Given the description of an element on the screen output the (x, y) to click on. 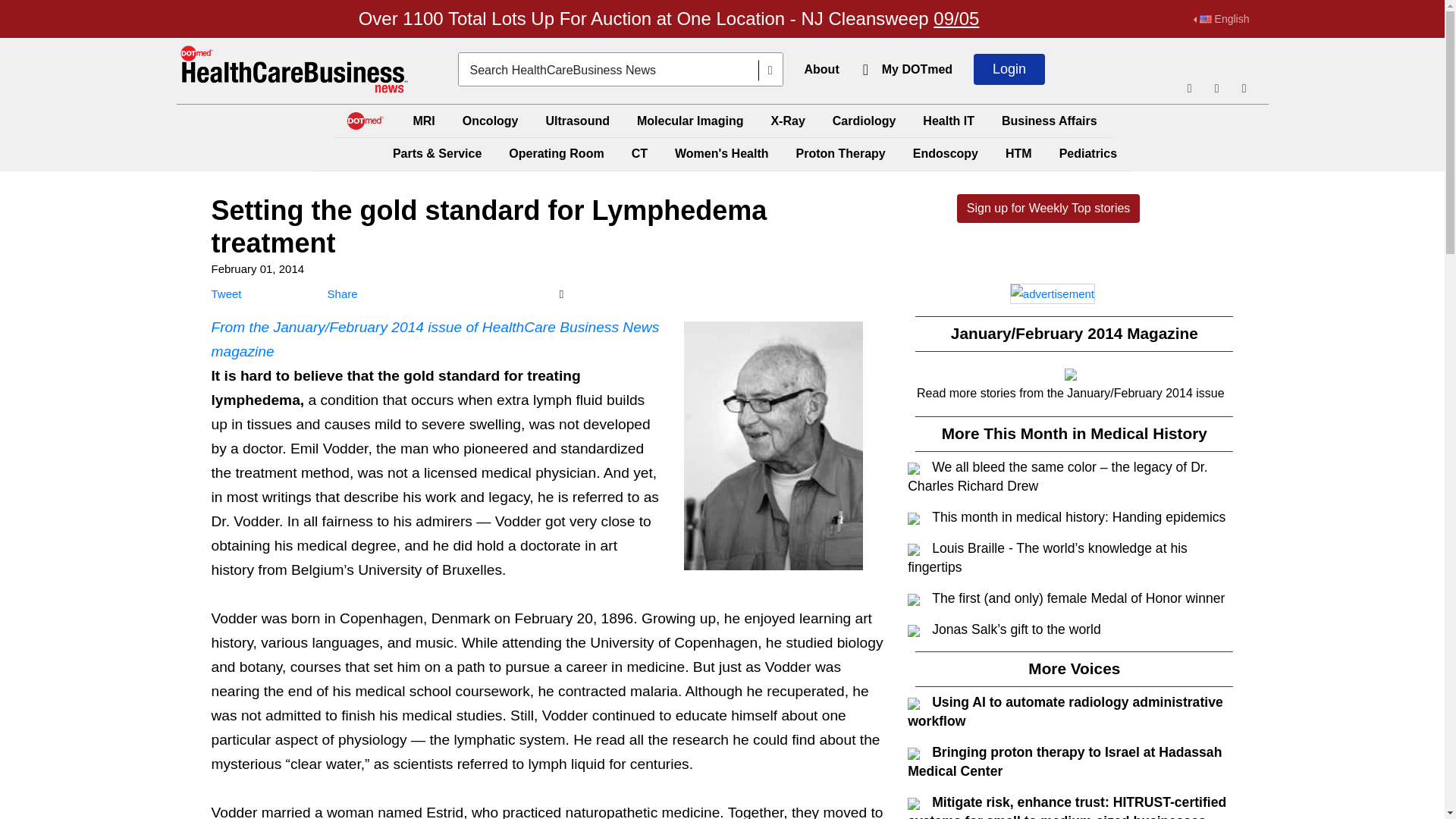
Health IT (948, 120)
Business Affairs (1049, 120)
X-Ray (787, 120)
English (1220, 19)
About (820, 69)
Cardiology (864, 120)
Login (1009, 69)
Molecular Imaging (689, 120)
Oncology (490, 120)
CT (639, 153)
